Given the description of an element on the screen output the (x, y) to click on. 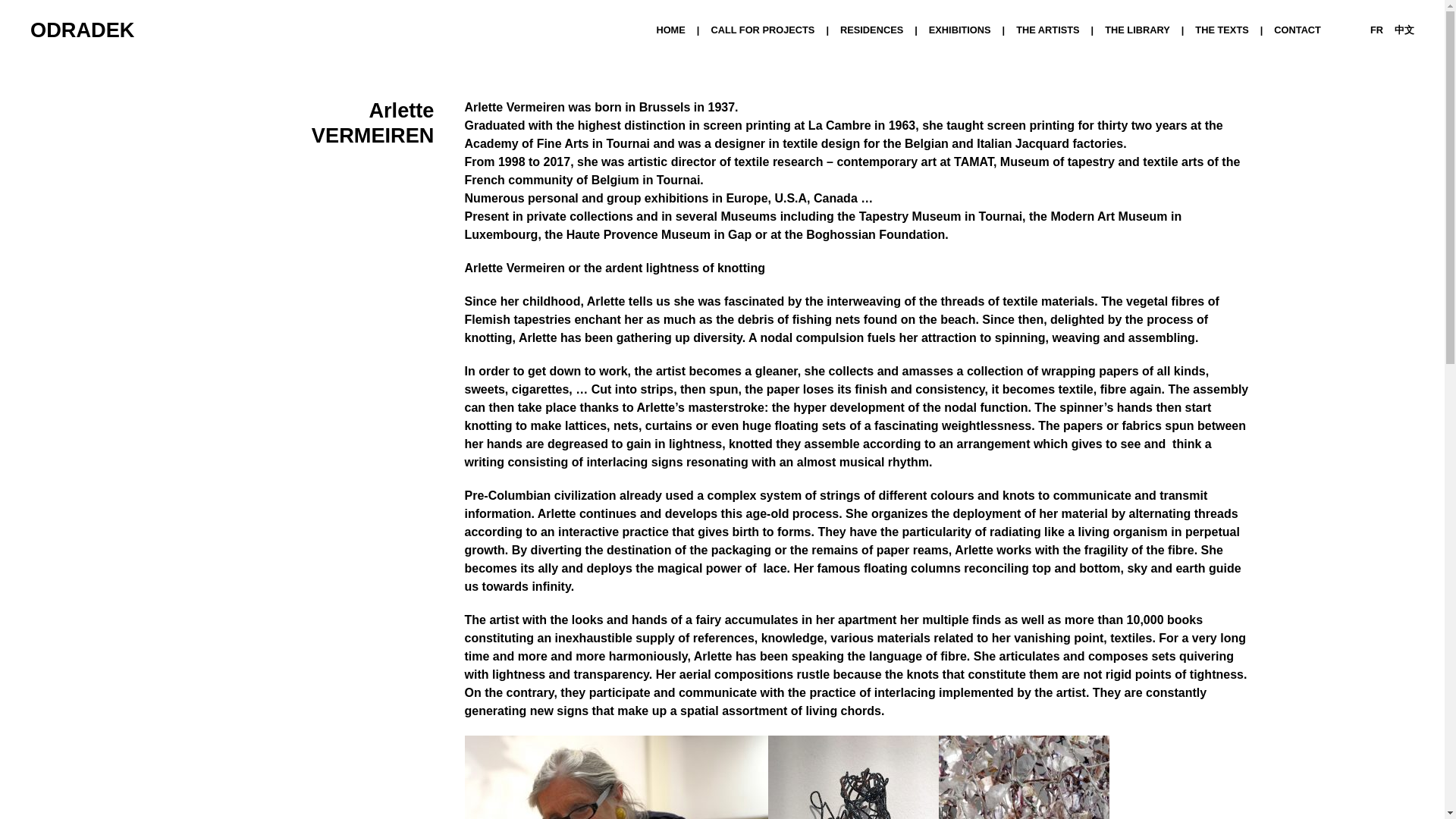
The Library (1150, 30)
The Artists (1060, 30)
The Texts (1234, 30)
Residences (884, 30)
CALL FOR PROJECTS (775, 30)
THE TEXTS (1234, 30)
ODRADEK (81, 30)
CONTACT (1303, 30)
HOME (683, 30)
CALL FOR PROJECTS (775, 30)
Exhibitions (972, 30)
THE LIBRARY (1150, 30)
Contact (1303, 30)
THE ARTISTS (1060, 30)
RESIDENCES (884, 30)
